Given the description of an element on the screen output the (x, y) to click on. 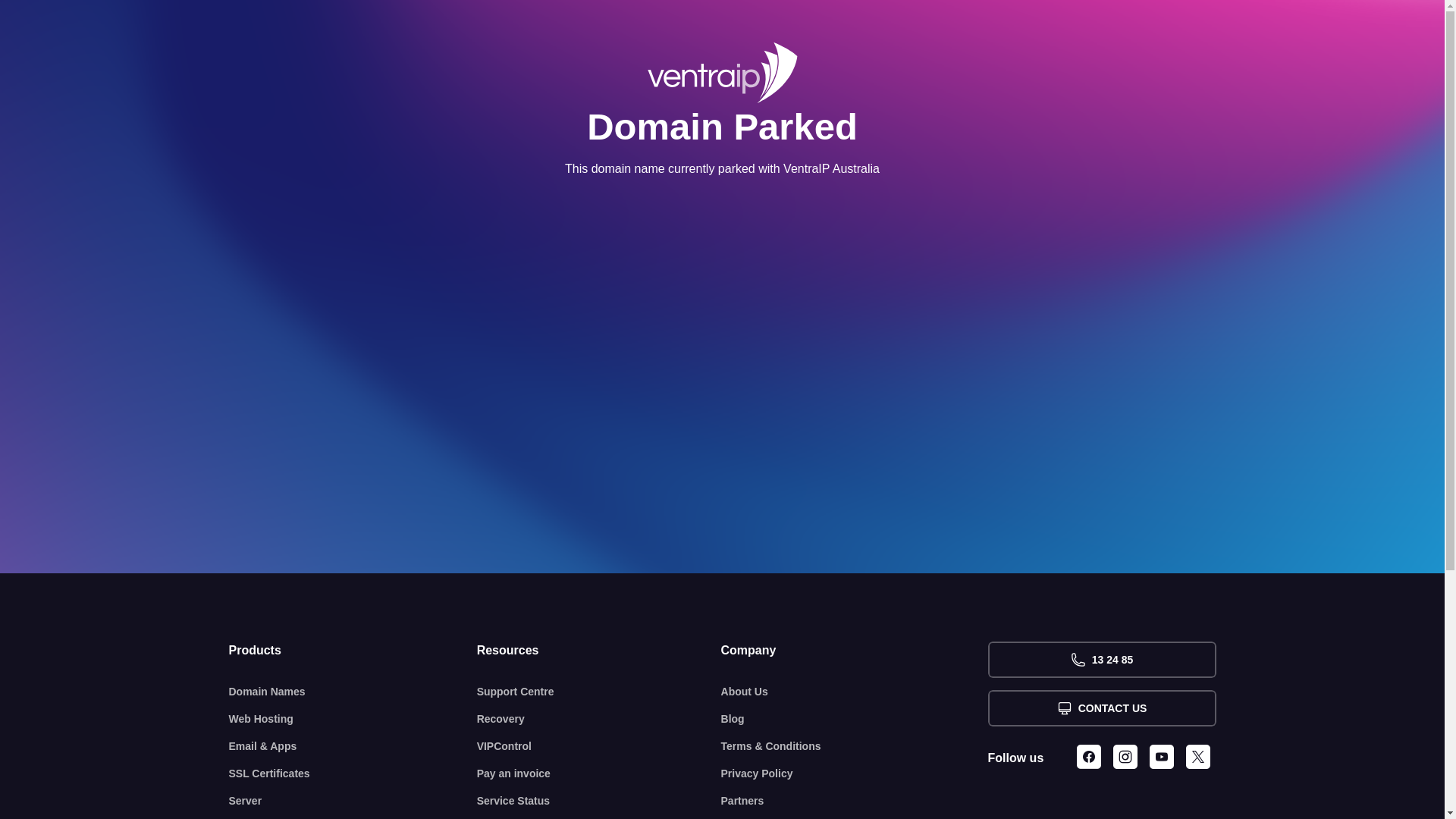
Service Status Element type: text (598, 800)
SSL Certificates Element type: text (352, 773)
CONTACT US Element type: text (1101, 708)
Domain Names Element type: text (352, 691)
Pay an invoice Element type: text (598, 773)
VIPControl Element type: text (598, 745)
Email & Apps Element type: text (352, 745)
About Us Element type: text (854, 691)
Support Centre Element type: text (598, 691)
13 24 85 Element type: text (1101, 659)
Privacy Policy Element type: text (854, 773)
Terms & Conditions Element type: text (854, 745)
Recovery Element type: text (598, 718)
Server Element type: text (352, 800)
Partners Element type: text (854, 800)
Web Hosting Element type: text (352, 718)
Blog Element type: text (854, 718)
